Given the description of an element on the screen output the (x, y) to click on. 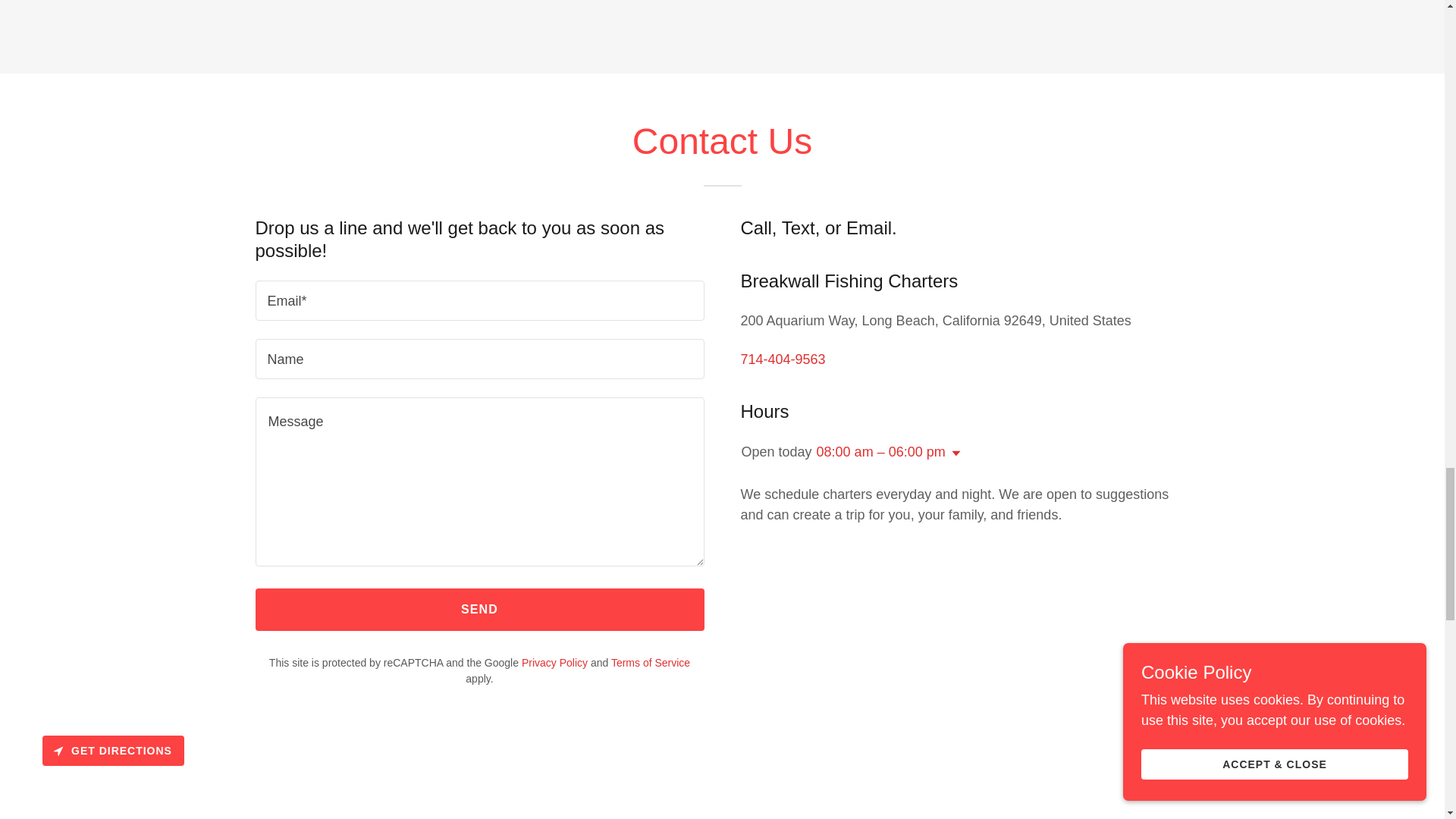
Privacy Policy (554, 662)
SEND (478, 609)
714-404-9563 (782, 359)
Terms of Service (650, 662)
GET DIRECTIONS (113, 750)
